Given the description of an element on the screen output the (x, y) to click on. 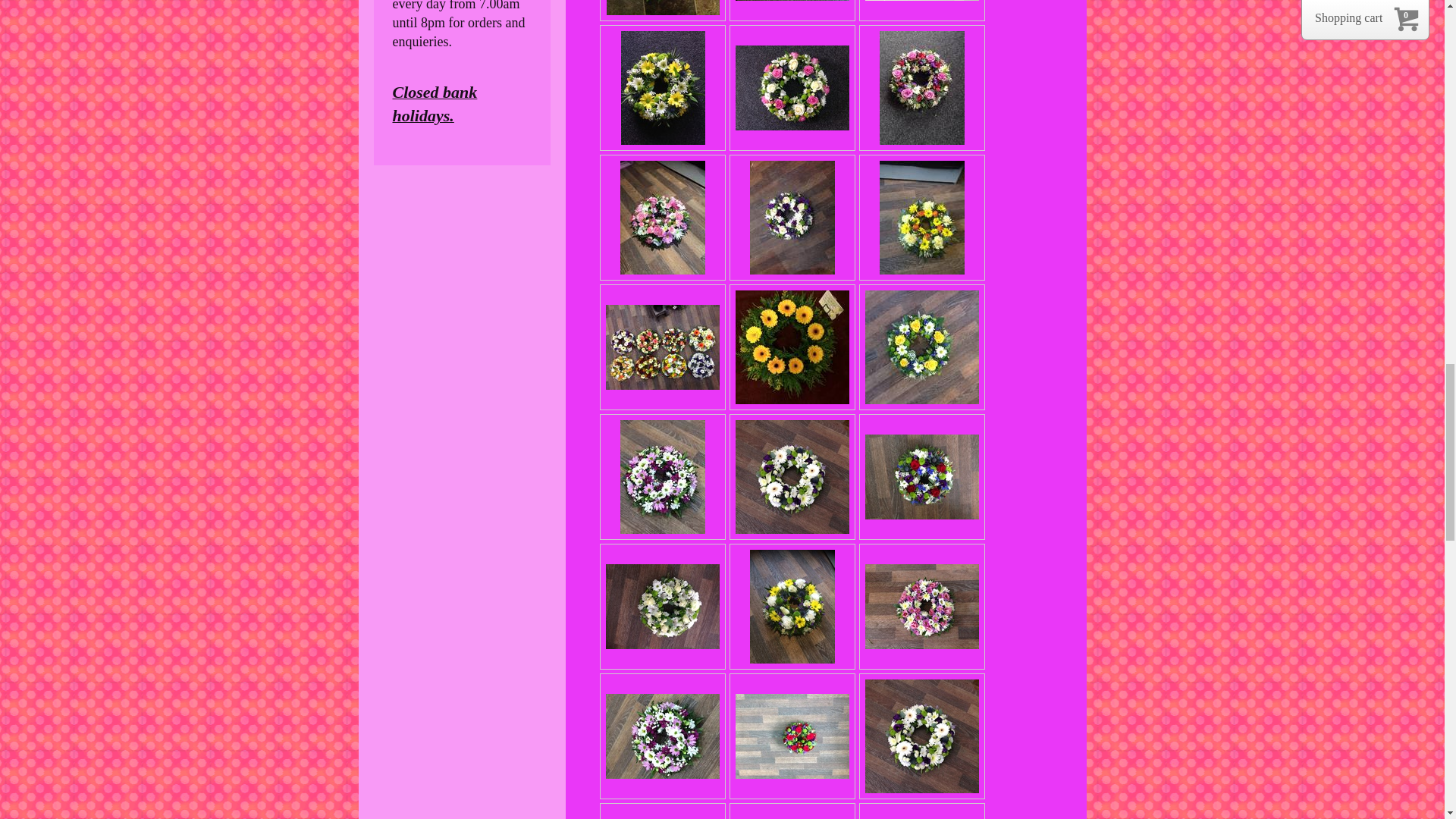
mixed wreath (663, 7)
sunflower wreath (921, 347)
miexed wreaths  (662, 346)
mixed wreath (791, 87)
gerbera wreath (791, 347)
